Given the description of an element on the screen output the (x, y) to click on. 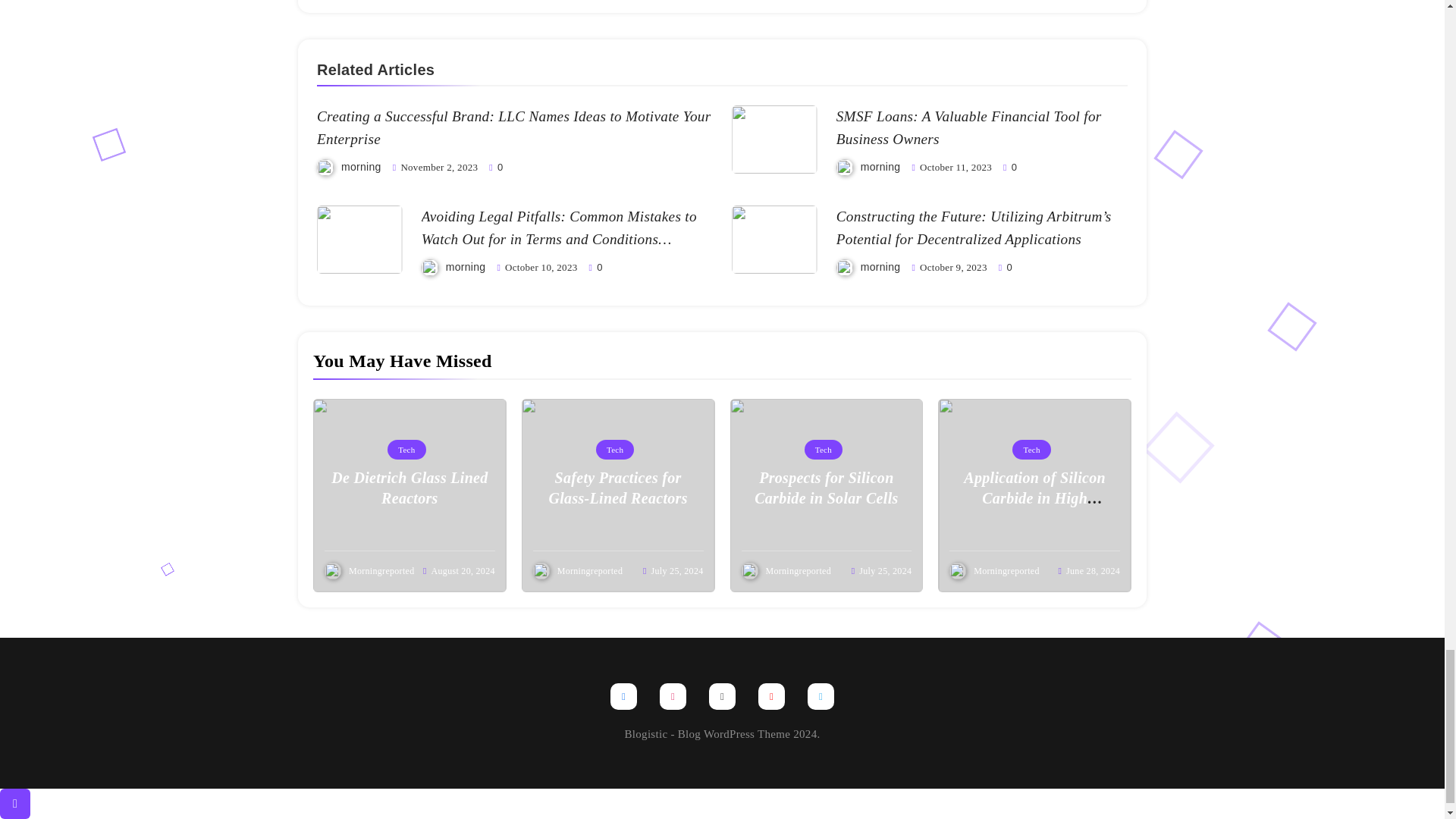
morning (880, 266)
Morningreported (381, 570)
Tech (614, 449)
August 20, 2024 (462, 570)
0 (595, 266)
morning (360, 166)
0 (1004, 266)
Tech (406, 449)
0 (1009, 166)
